Given the description of an element on the screen output the (x, y) to click on. 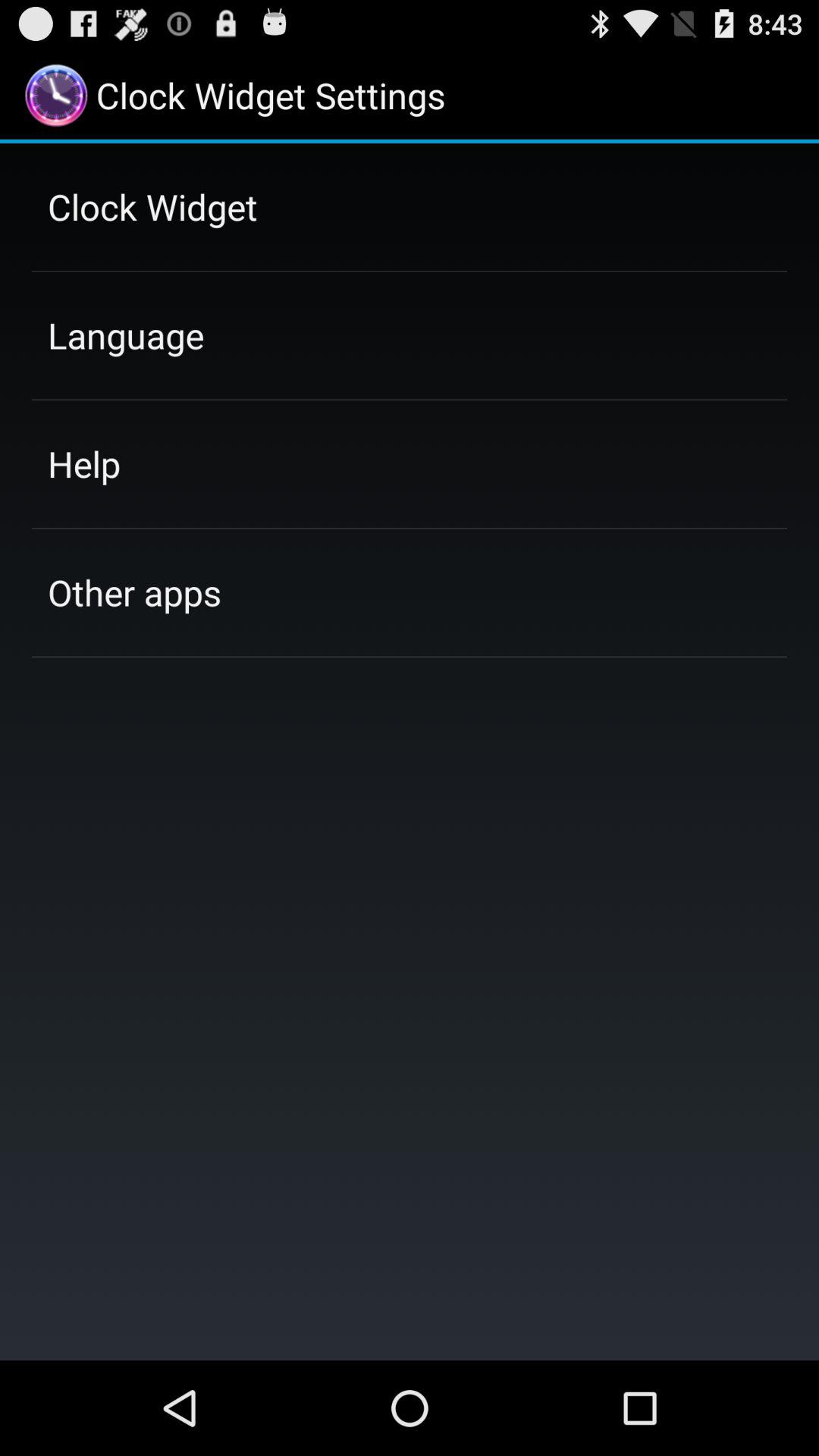
tap icon above help icon (125, 335)
